Given the description of an element on the screen output the (x, y) to click on. 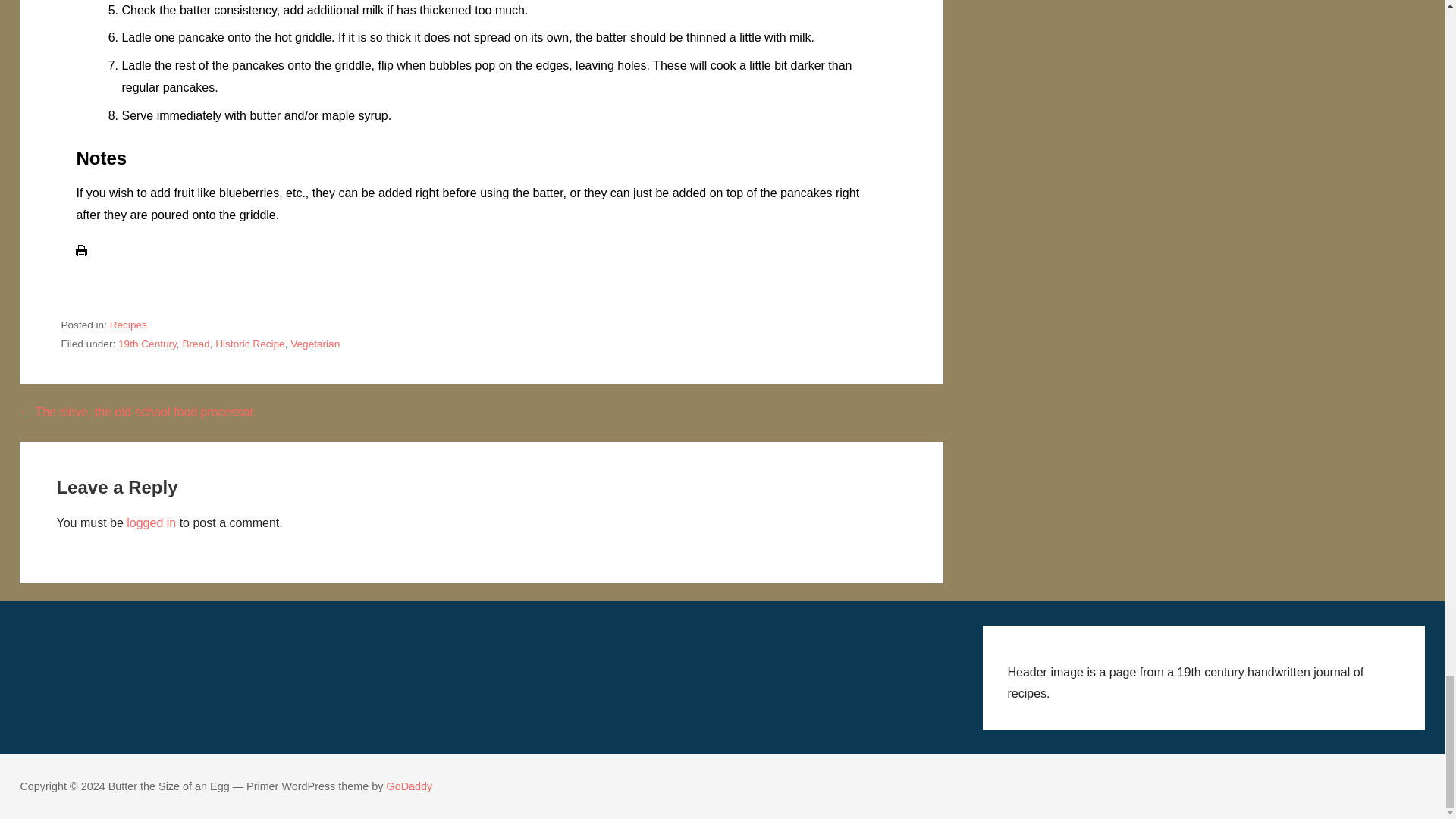
Historic Recipe (249, 343)
Recipes (128, 324)
Vegetarian (314, 343)
19th Century (146, 343)
logged in (151, 522)
Bread (195, 343)
